Given the description of an element on the screen output the (x, y) to click on. 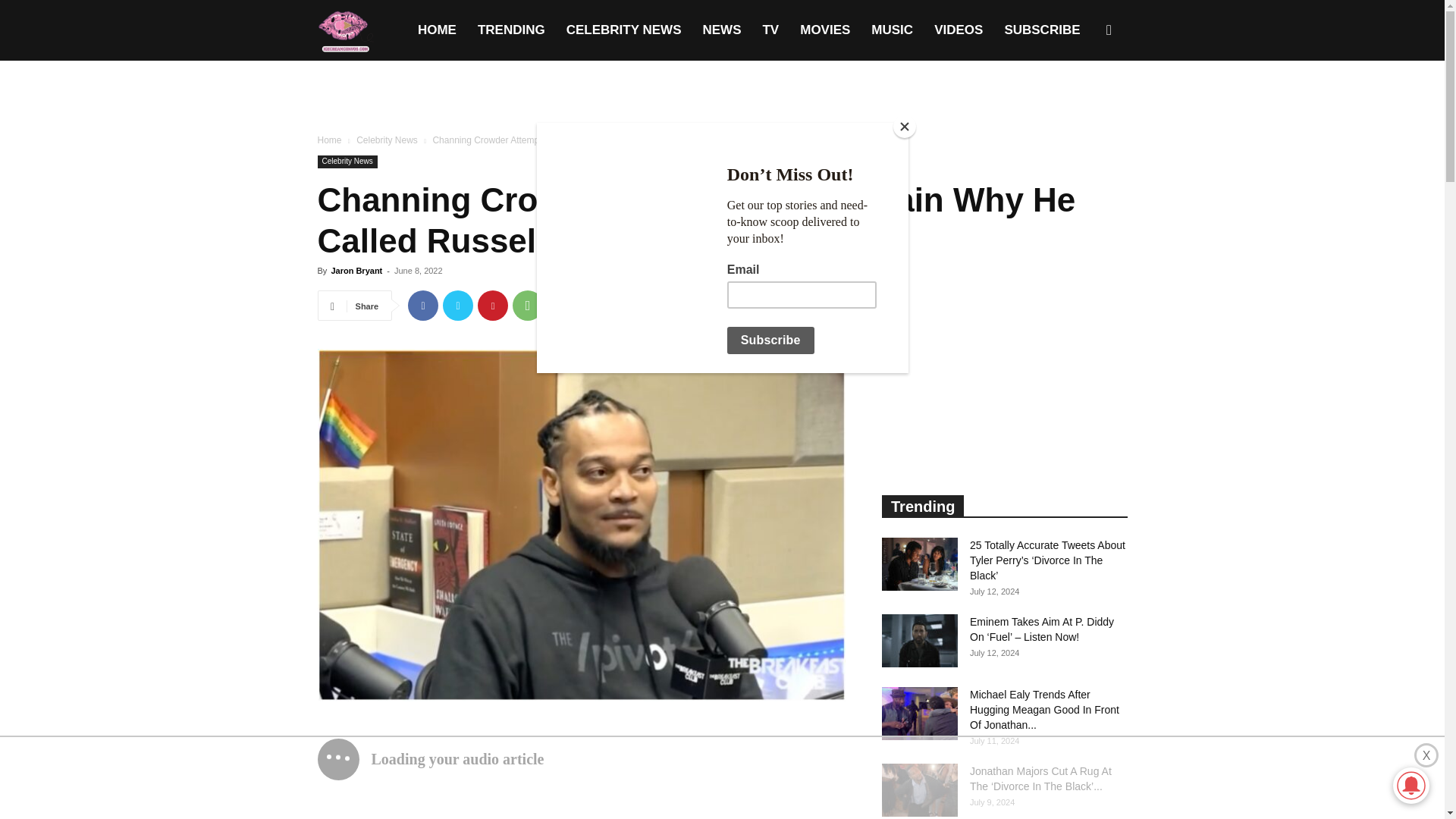
VIDEOS (957, 30)
WhatsApp (527, 305)
3rd party ad content (721, 97)
Twitter (457, 305)
NEWS (721, 30)
Search (1085, 102)
Ice Cream Convos (344, 30)
Email (632, 305)
Facebook (422, 305)
Jaron Bryant (355, 270)
MOVIES (824, 30)
3rd party ad content (721, 777)
ReddIt (597, 305)
TRENDING (511, 30)
